Given the description of an element on the screen output the (x, y) to click on. 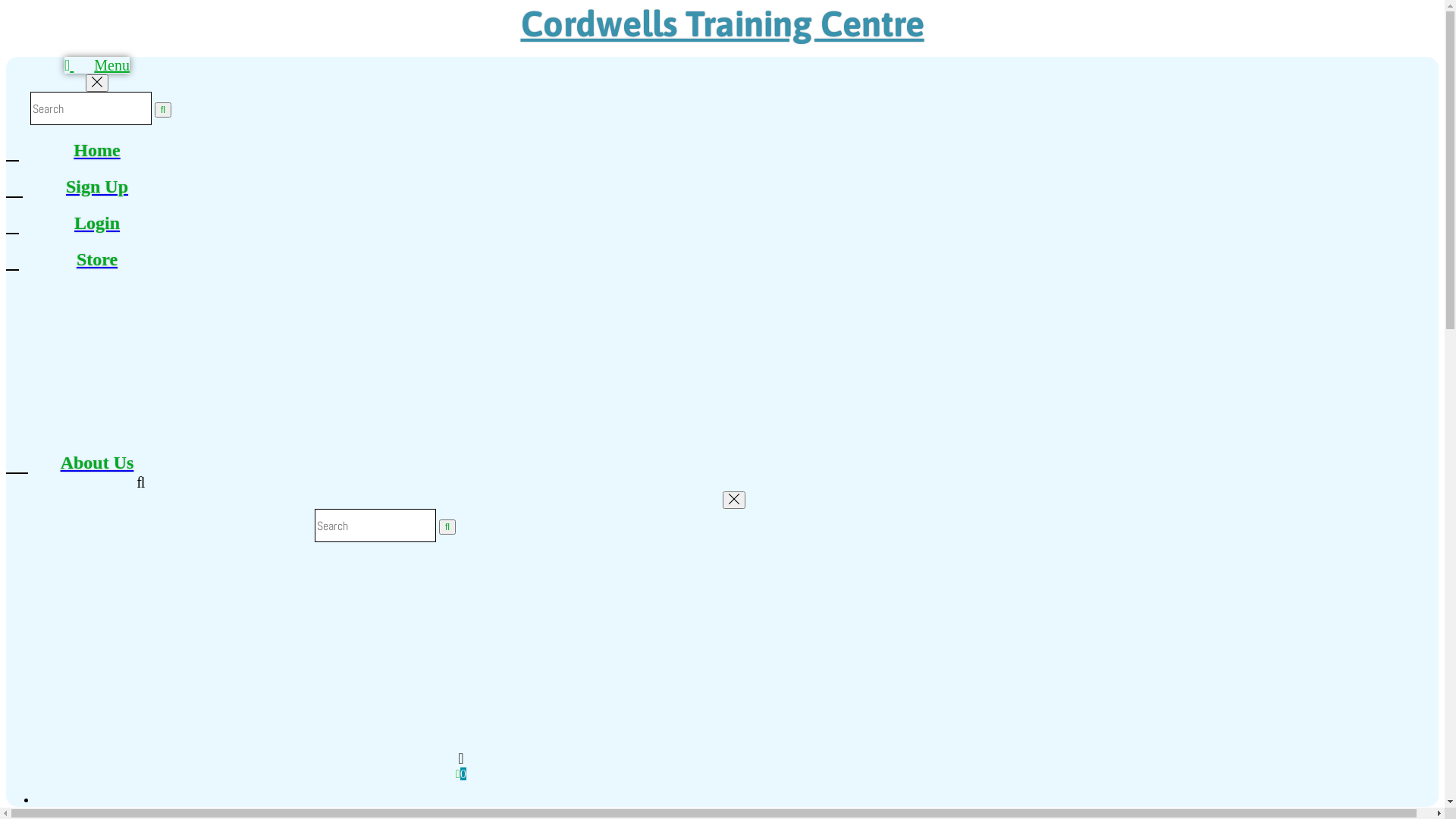
Store Element type: text (96, 259)
Cordwells Training Centre Element type: text (721, 23)
Login Element type: text (96, 222)
Skip to the content Element type: text (5, 5)
Sign Up Element type: text (96, 186)
About Us Element type: text (97, 462)
Menu Element type: text (96, 64)
Home Element type: text (96, 150)
0 Element type: text (460, 773)
